Given the description of an element on the screen output the (x, y) to click on. 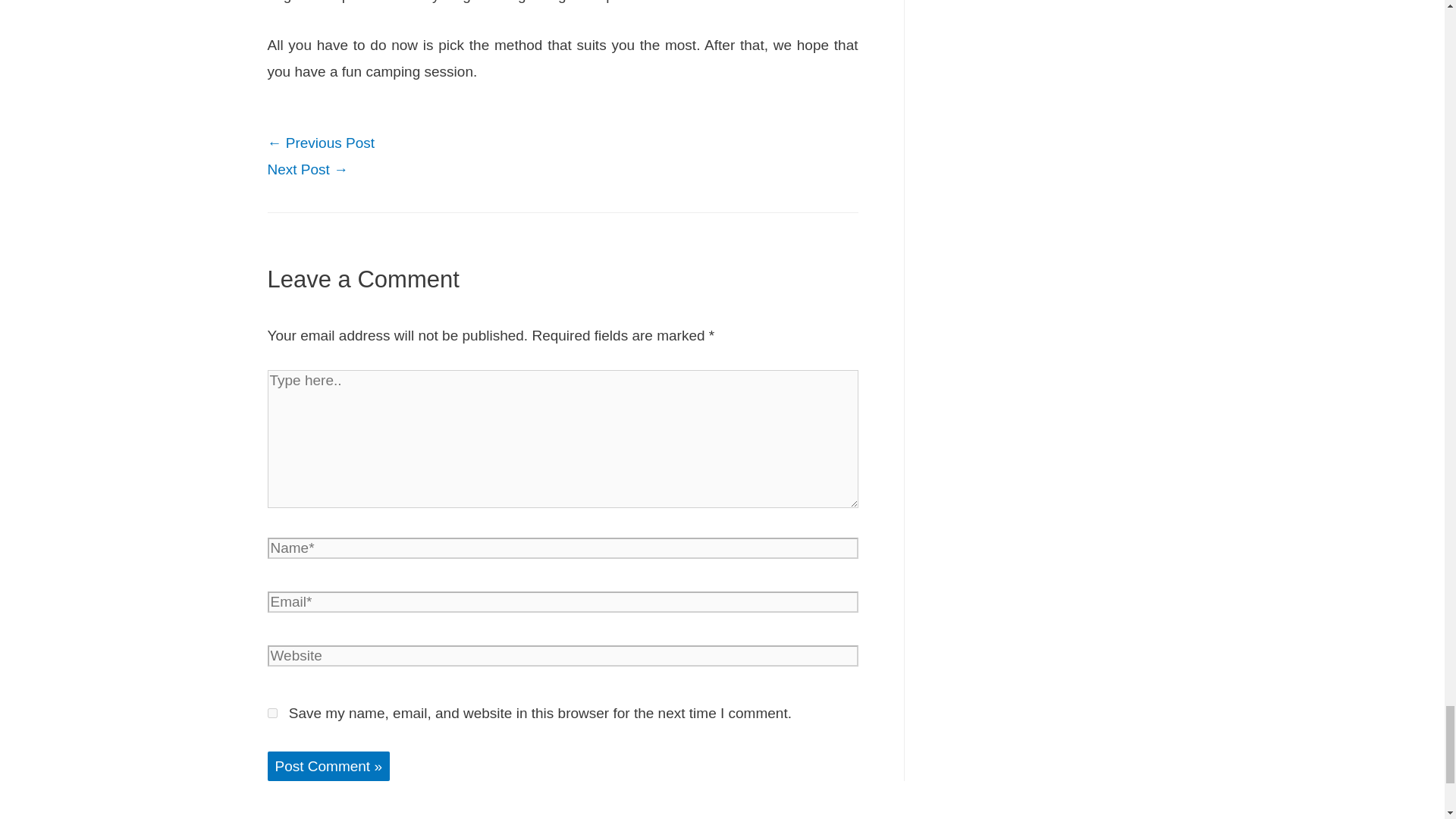
yes (271, 713)
